Given the description of an element on the screen output the (x, y) to click on. 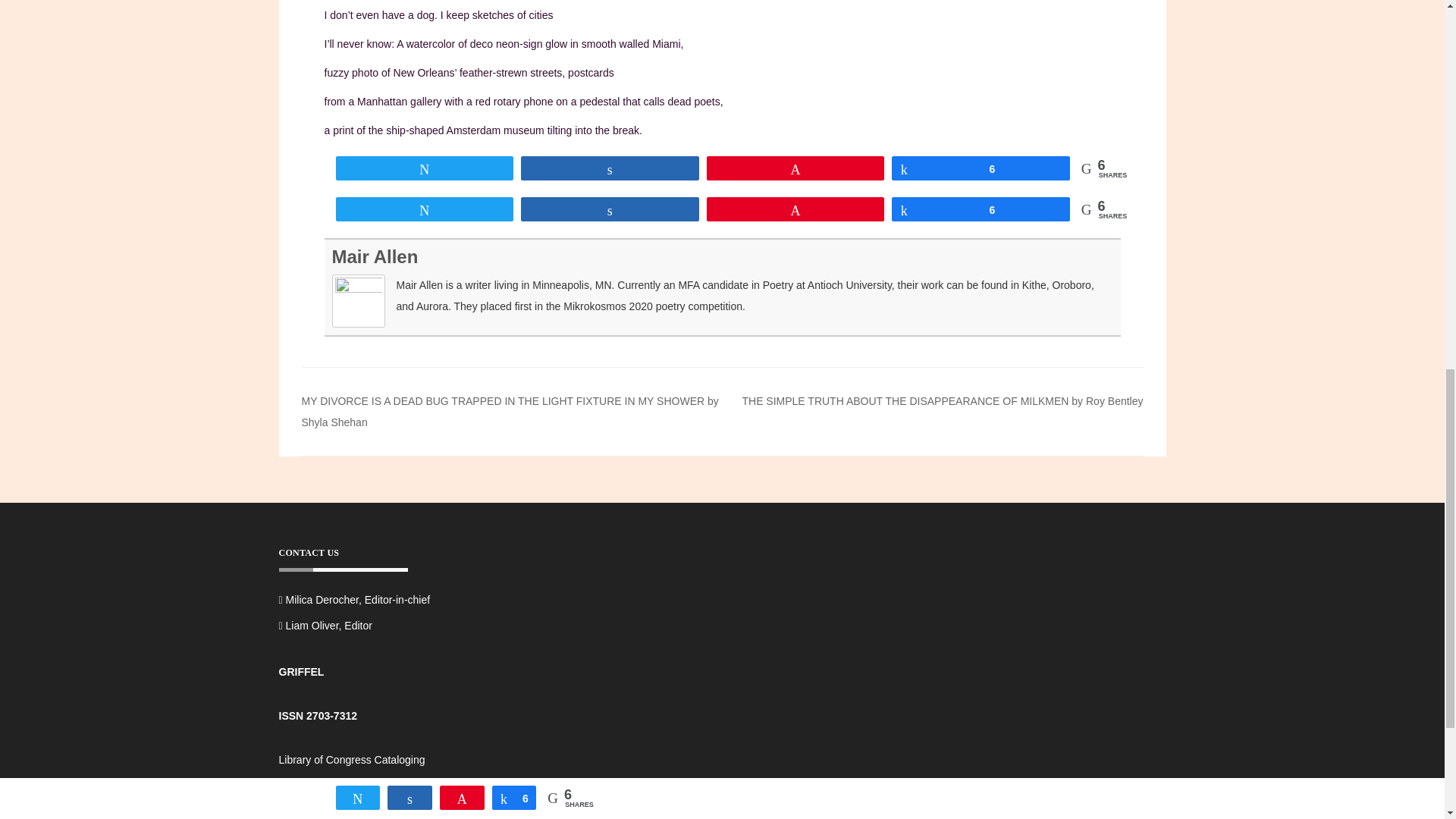
6 (980, 168)
